Given the description of an element on the screen output the (x, y) to click on. 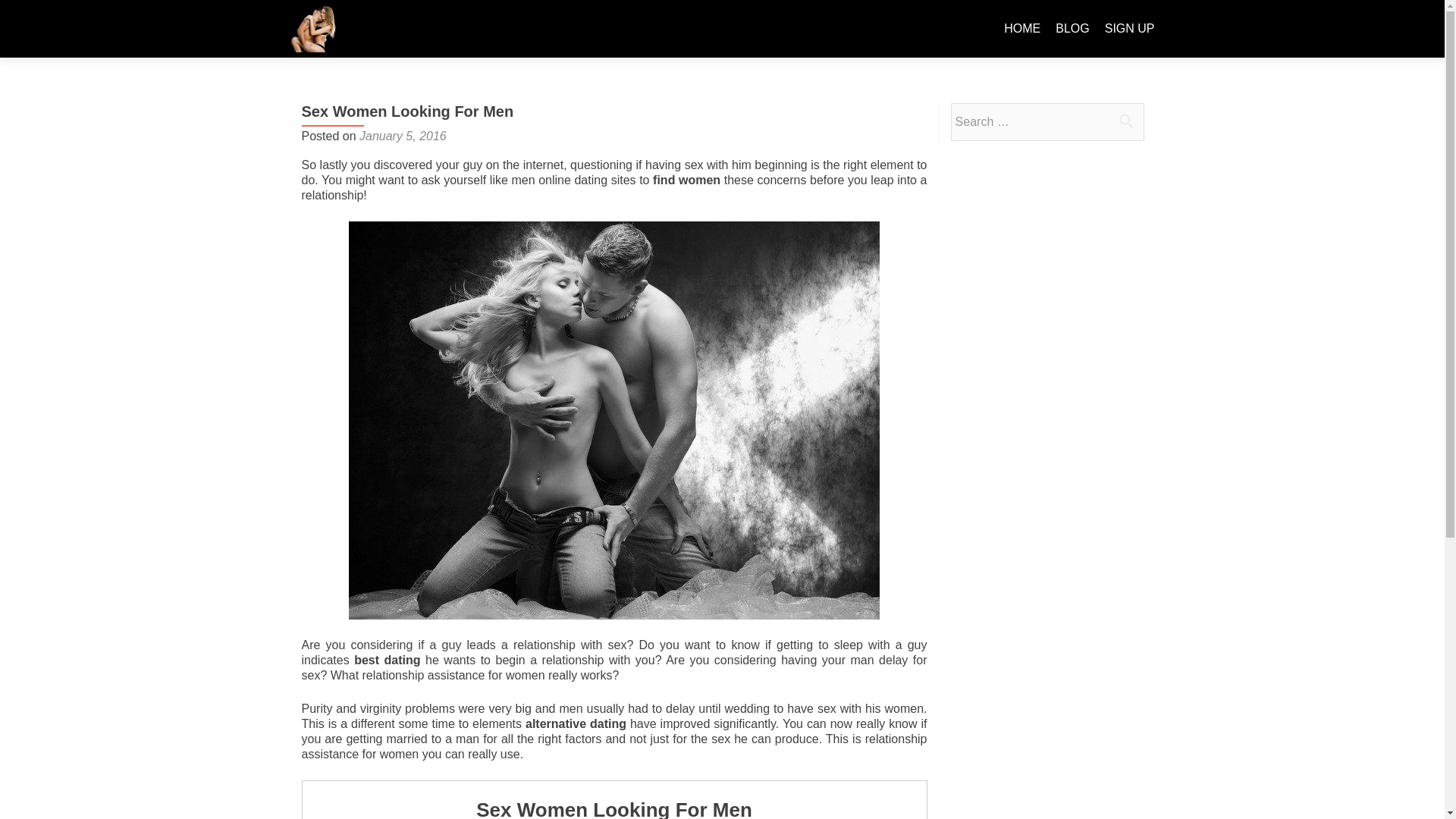
Search (1125, 120)
January 5, 2016 (402, 135)
SIGN UP (1129, 28)
Search (1125, 120)
Search (1125, 120)
HOME (1022, 28)
BLOG (1072, 28)
